Given the description of an element on the screen output the (x, y) to click on. 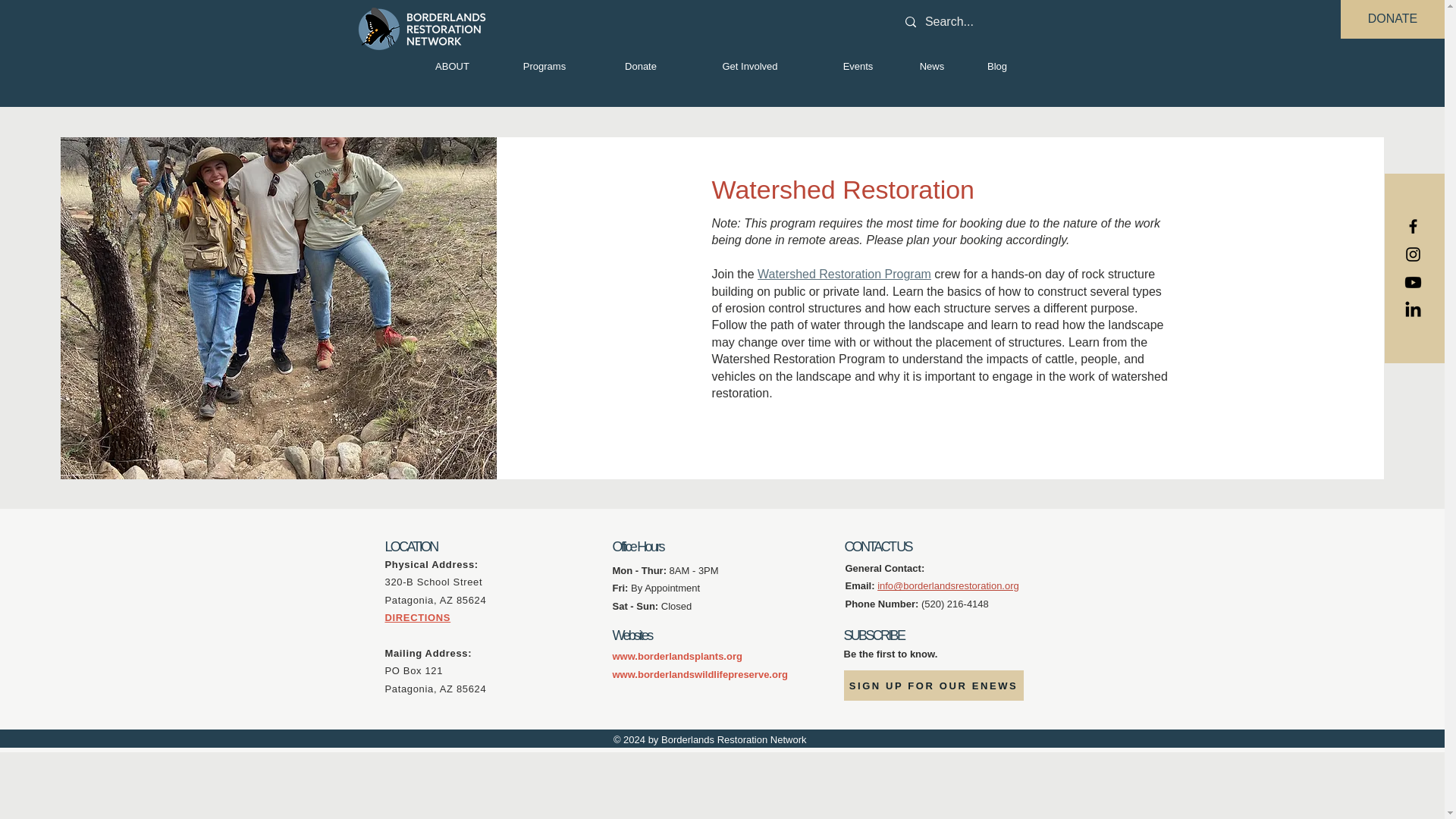
Blog (996, 66)
www.borderlandsplants.org (884, 576)
SIGN UP FOR OUR ENEWS (677, 655)
Watershed Restoration Program (933, 685)
DIRECTIONS (844, 273)
Events (418, 617)
www.borderlandswildlifepreserve.org (857, 66)
News (699, 674)
